Given the description of an element on the screen output the (x, y) to click on. 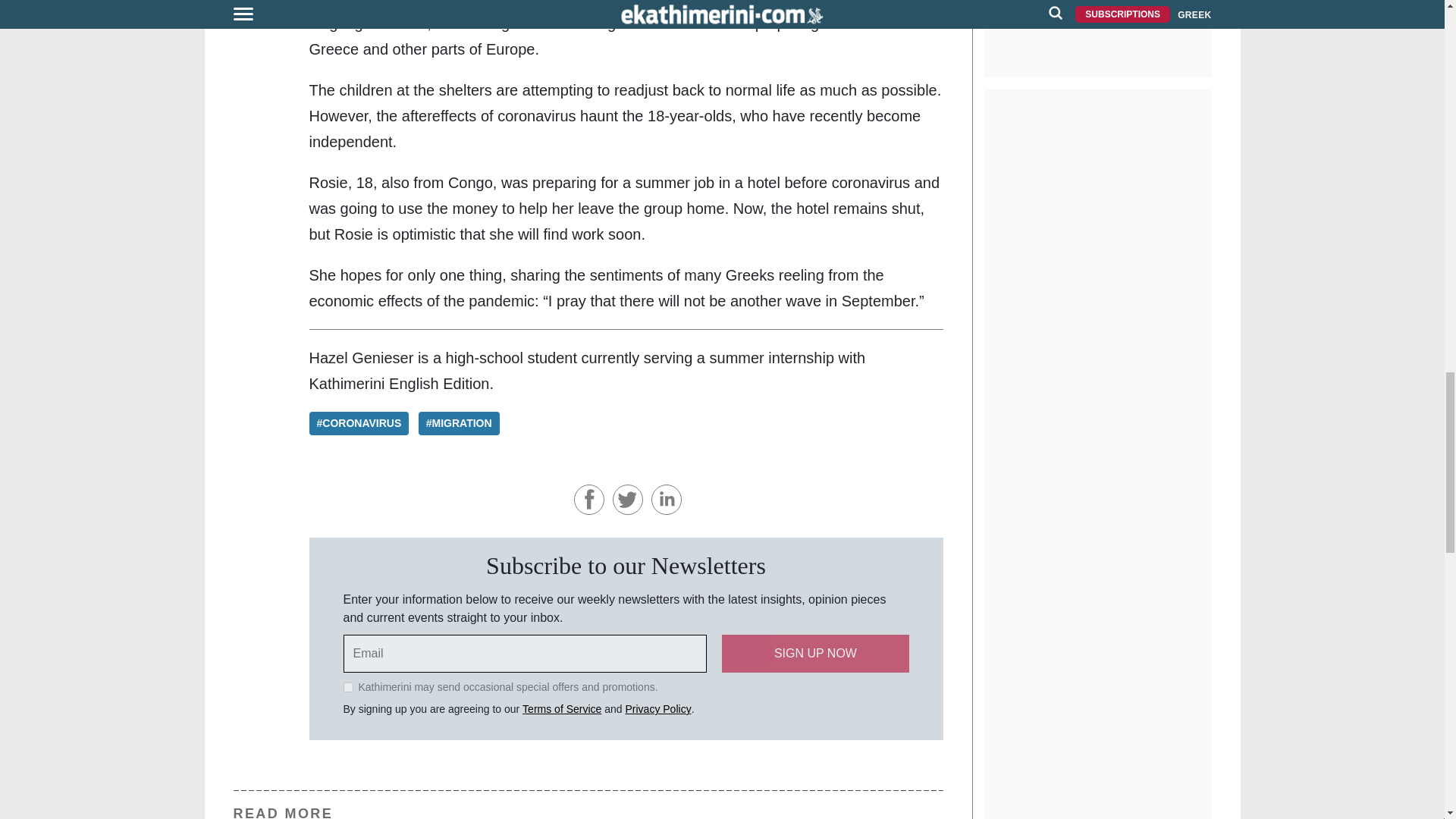
on (347, 687)
